Given the description of an element on the screen output the (x, y) to click on. 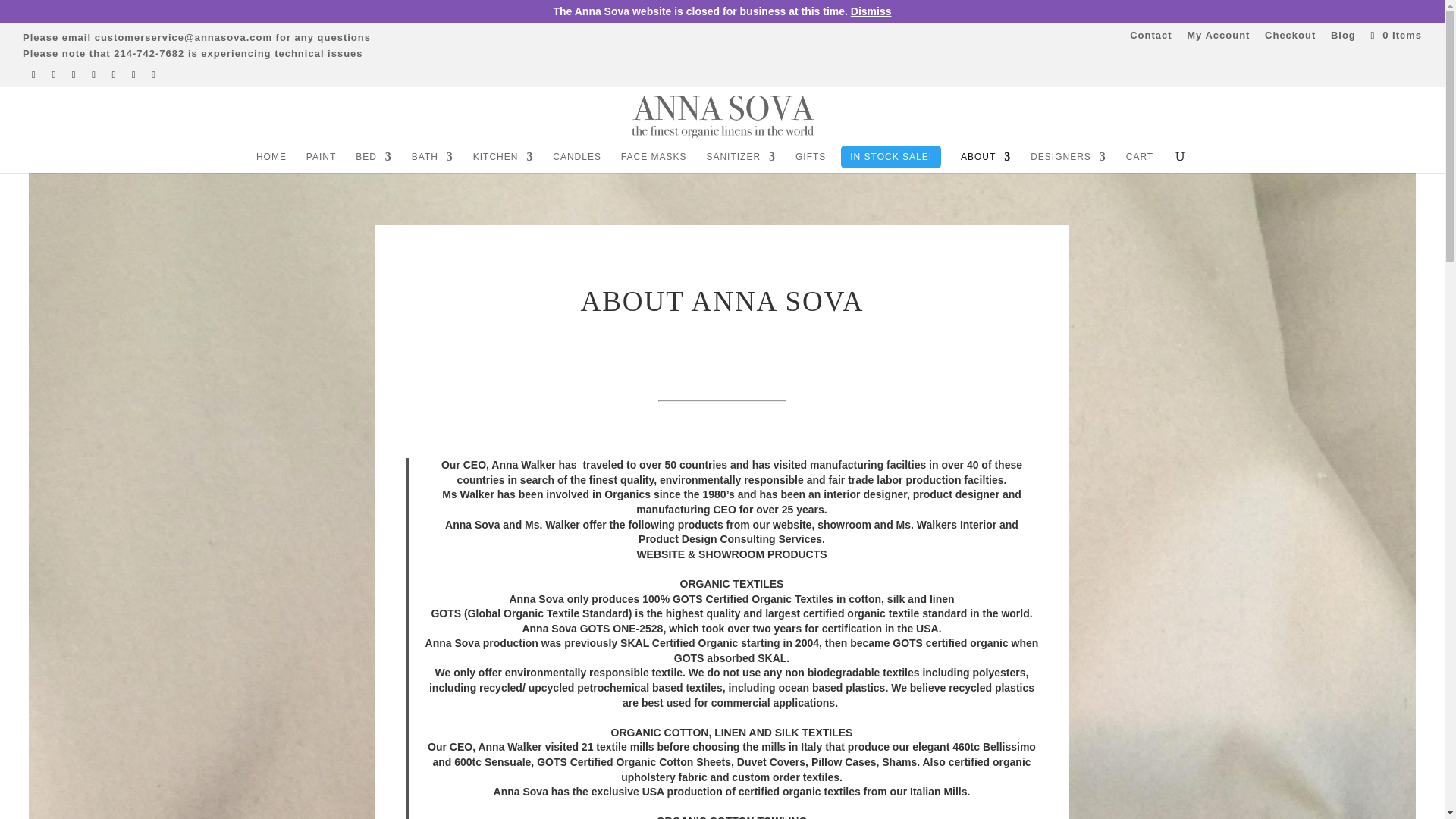
Contact (1150, 38)
HOME (271, 161)
0 Items (1394, 34)
Checkout (1290, 38)
BED (373, 161)
Blog (1342, 38)
BATH (432, 161)
My Account (1217, 38)
PAINT (320, 161)
